Given the description of an element on the screen output the (x, y) to click on. 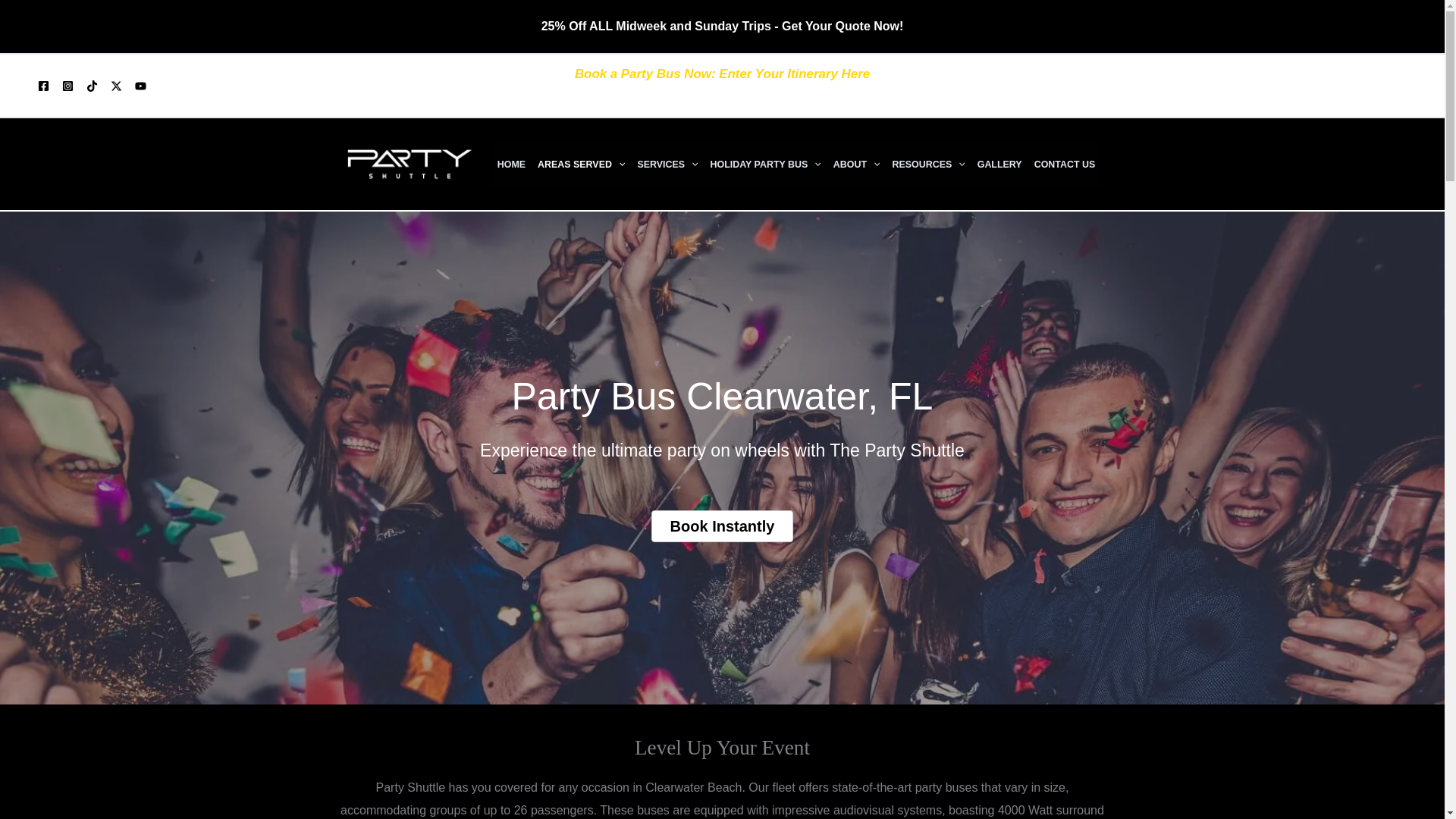
Book a Party Bus Now: Enter Your Itinerary Here (722, 73)
SERVICES (666, 164)
AREAS SERVED (580, 164)
HOME (511, 164)
HOLIDAY PARTY BUS (765, 164)
